Given the description of an element on the screen output the (x, y) to click on. 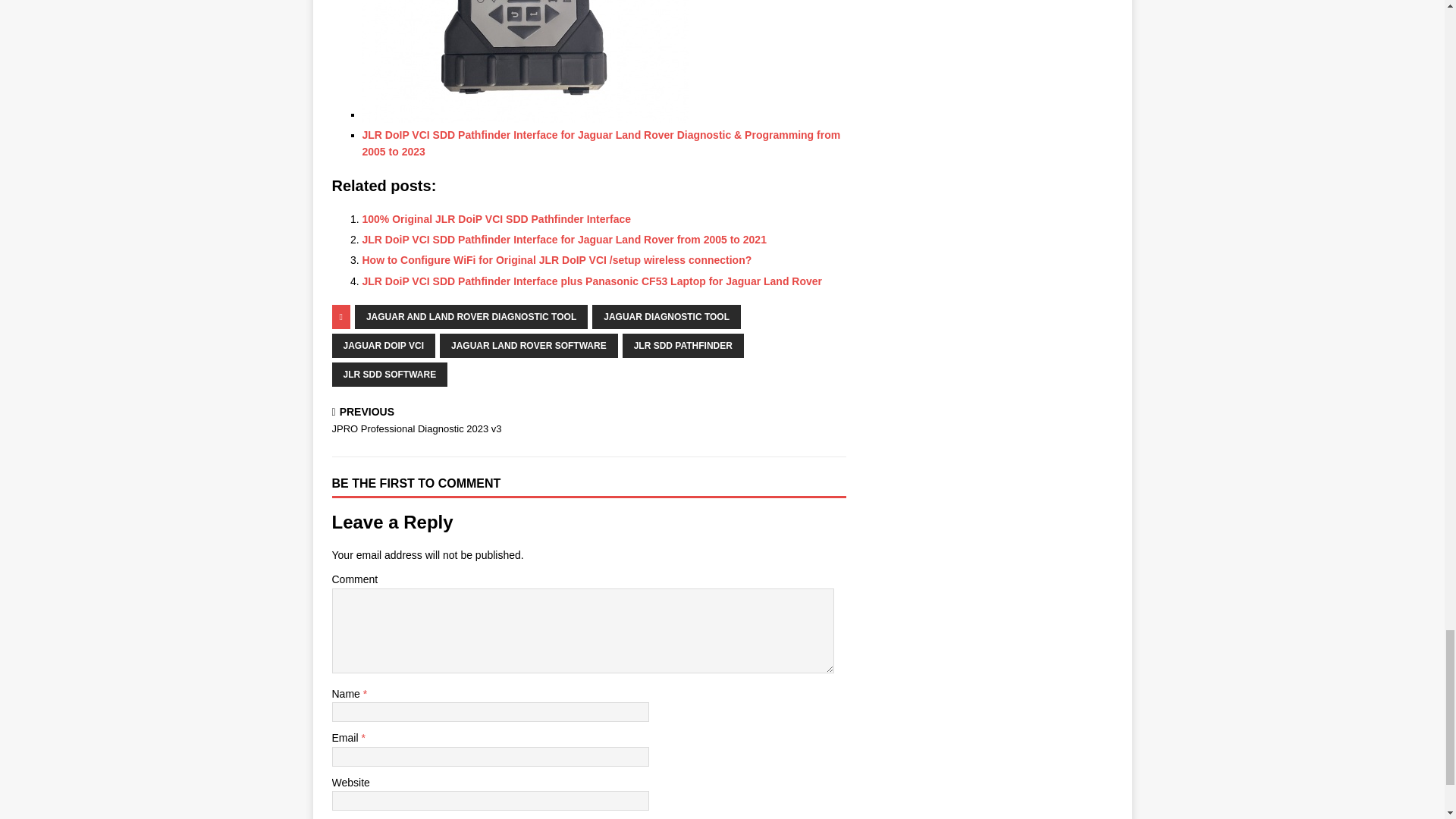
JLR SDD PATHFINDER (683, 345)
JAGUAR DOIP VCI (383, 345)
JAGUAR AND LAND ROVER DIAGNOSTIC TOOL (471, 316)
JAGUAR DIAGNOSTIC TOOL (666, 316)
JAGUAR LAND ROVER SOFTWARE (528, 345)
JLR SDD SOFTWARE (389, 374)
